Given the description of an element on the screen output the (x, y) to click on. 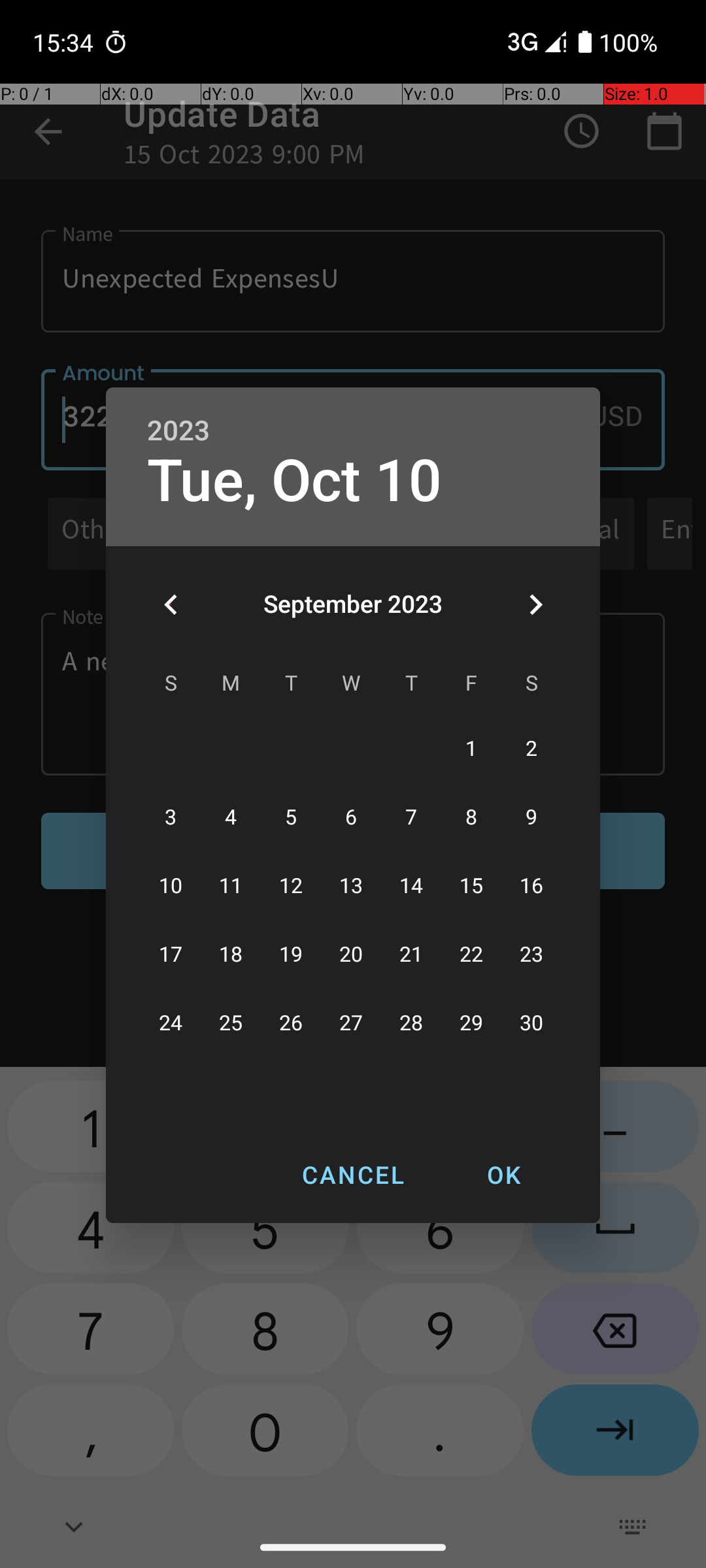
Tue, Oct 10 Element type: android.widget.TextView (294, 480)
